Given the description of an element on the screen output the (x, y) to click on. 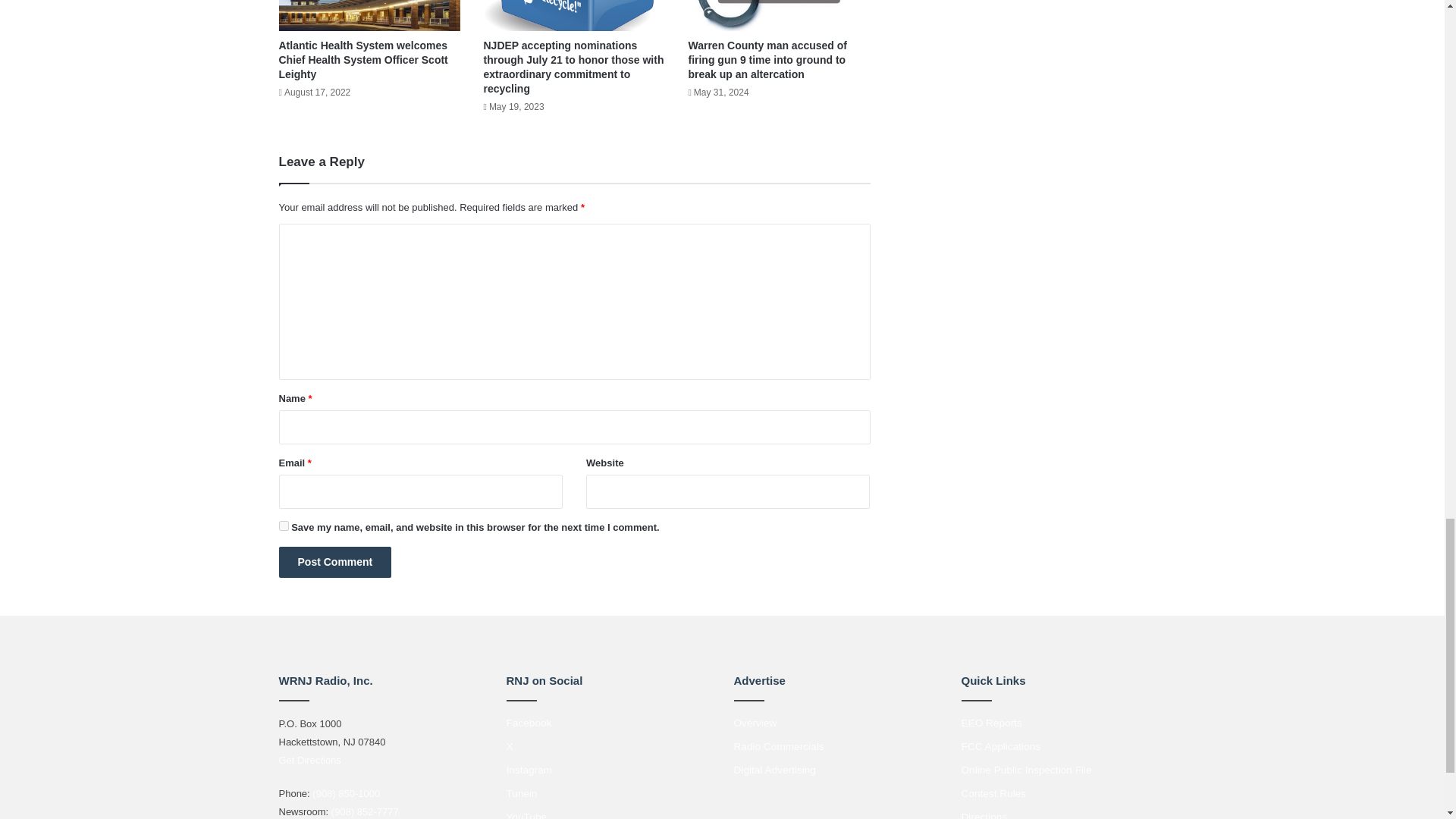
Post Comment (335, 562)
yes (283, 525)
